Given the description of an element on the screen output the (x, y) to click on. 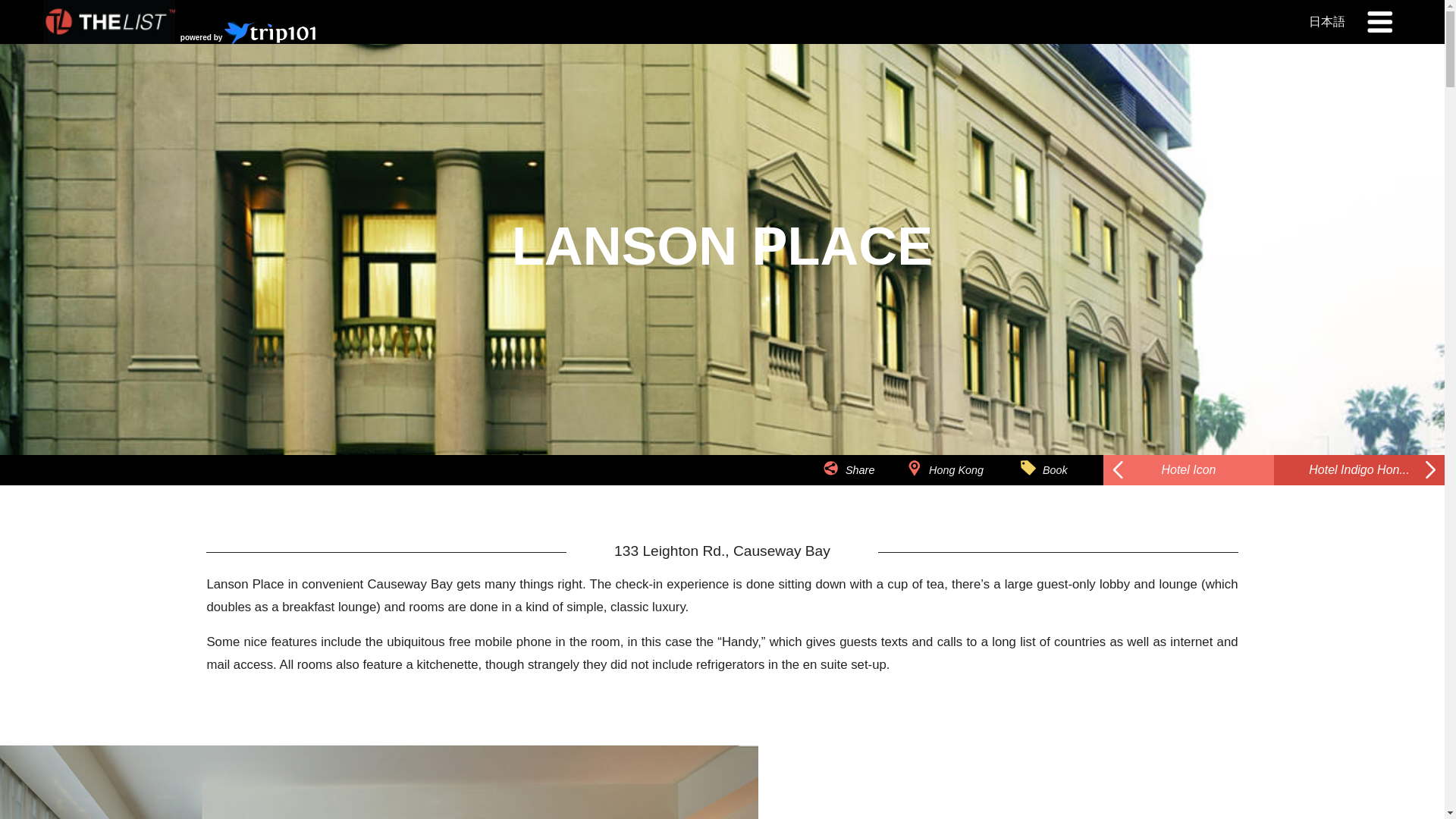
Share (870, 485)
Book (1054, 469)
Hong Kong (956, 469)
